Given the description of an element on the screen output the (x, y) to click on. 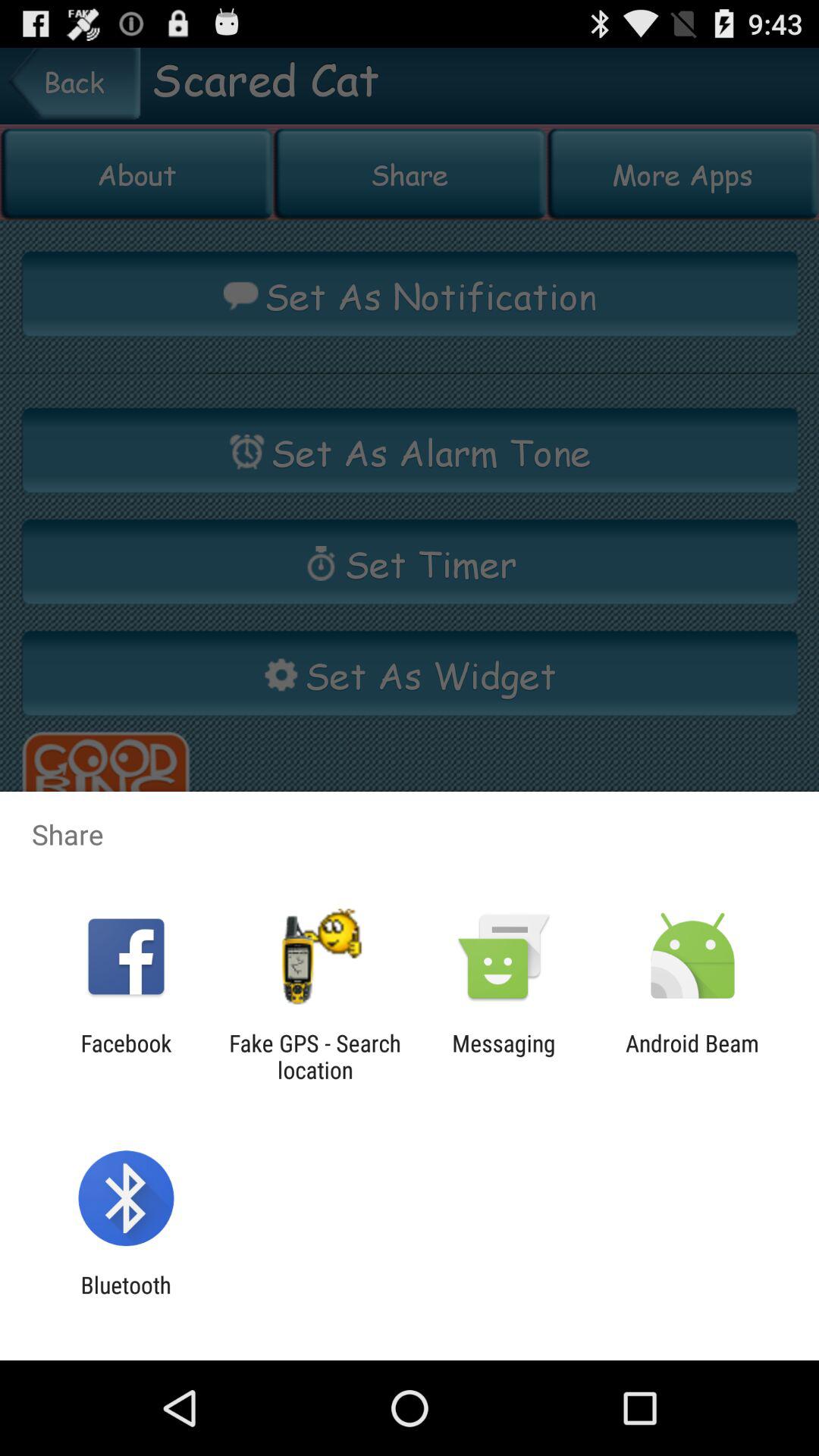
press messaging icon (503, 1056)
